Given the description of an element on the screen output the (x, y) to click on. 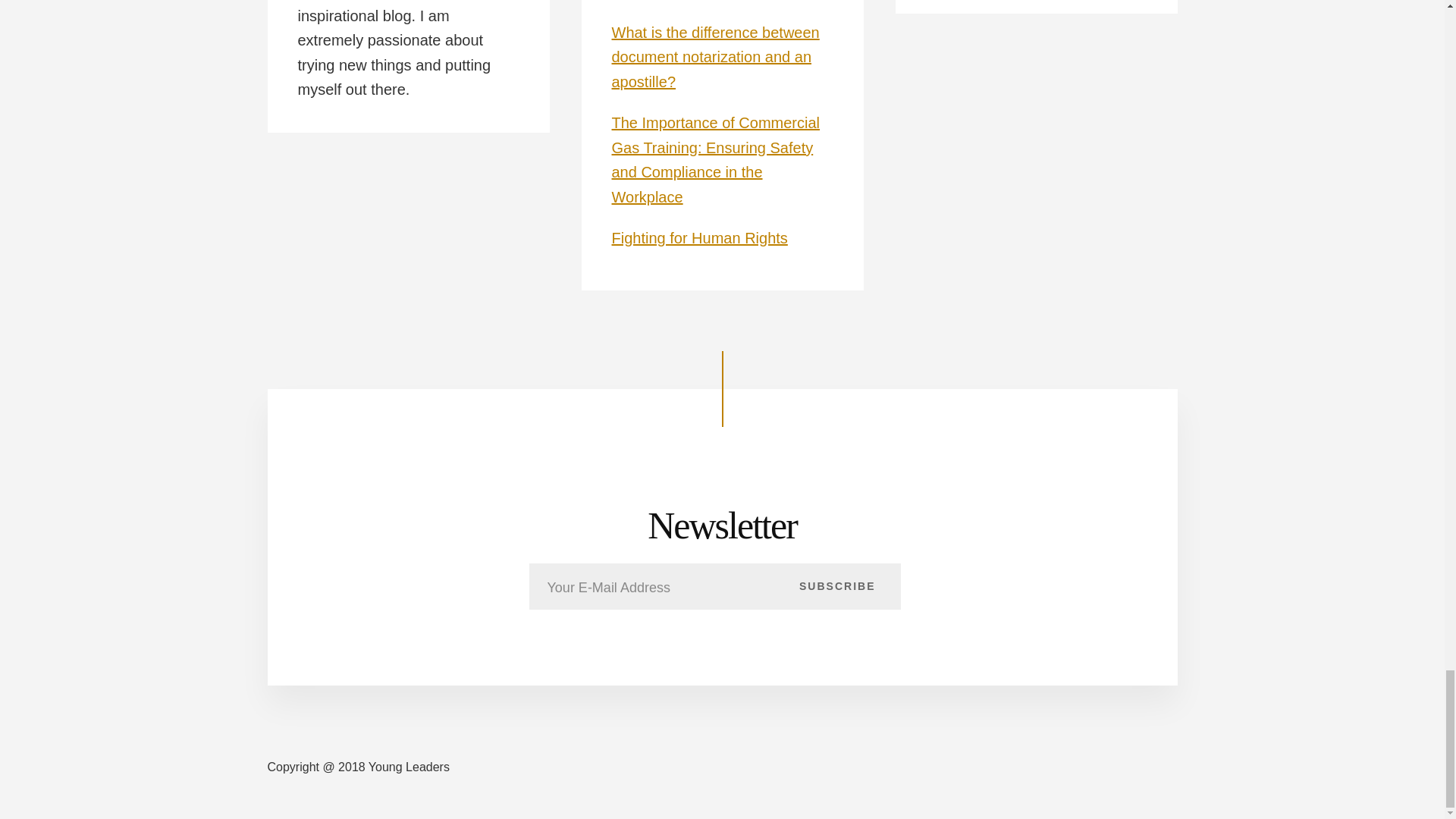
Fighting for Human Rights (699, 238)
SUBSCRIBE (837, 585)
SUBSCRIBE (837, 585)
